Given the description of an element on the screen output the (x, y) to click on. 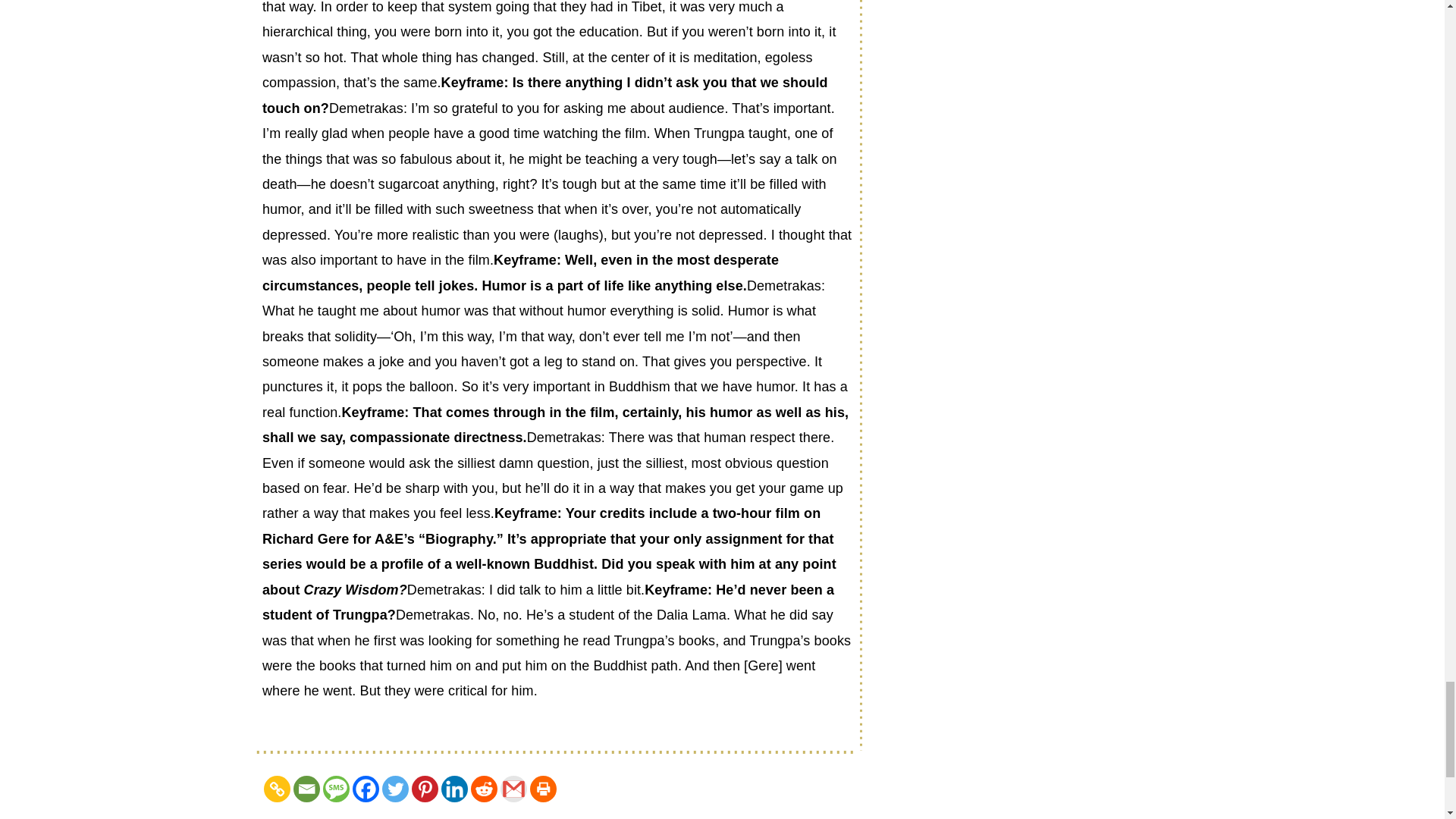
Facebook (365, 788)
Copy Link (276, 788)
Linkedin (454, 788)
Reddit (483, 788)
Google Gmail (513, 788)
SMS (336, 788)
Pinterest (425, 788)
Twitter (395, 788)
Email (307, 788)
